Given the description of an element on the screen output the (x, y) to click on. 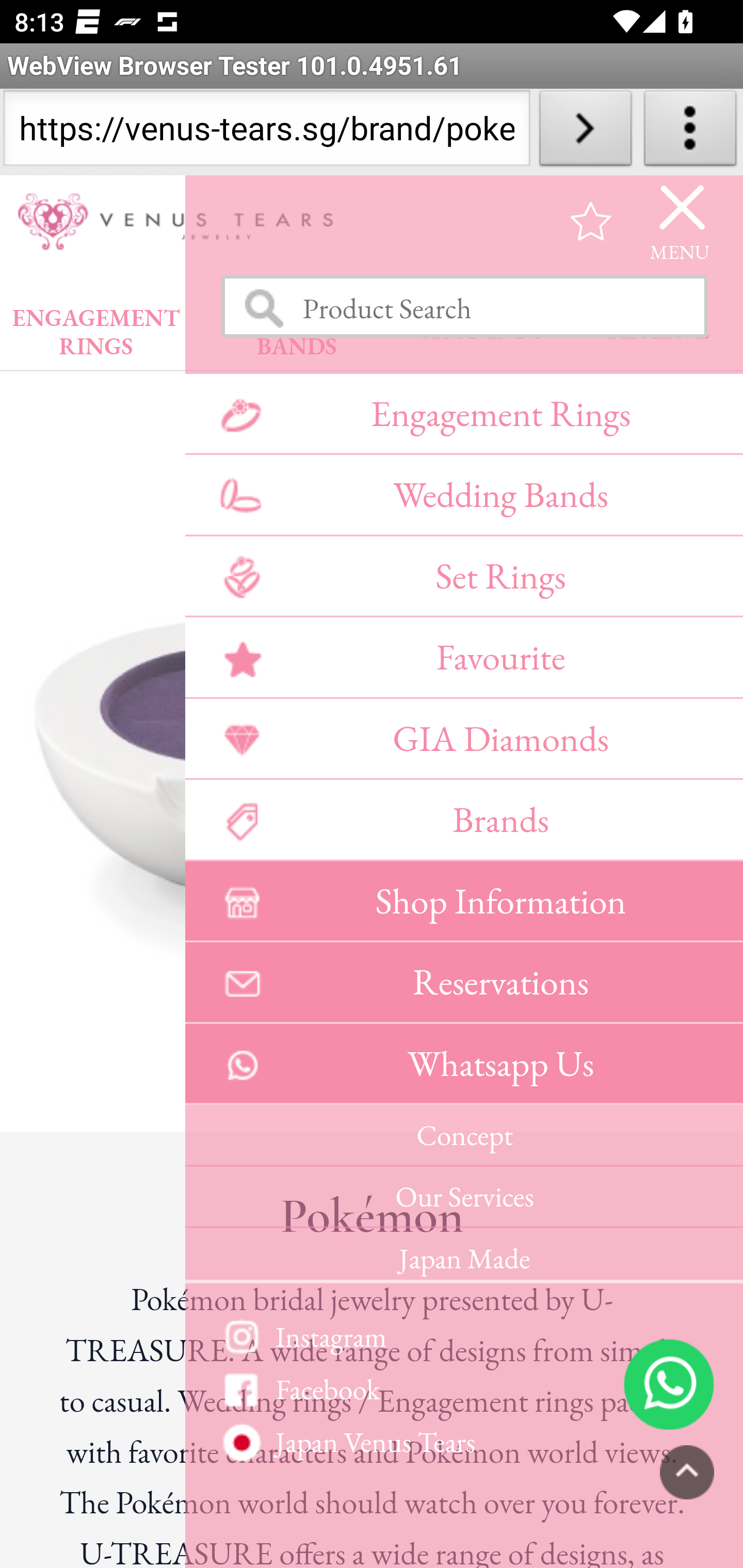
Load URL (585, 132)
About WebView (690, 132)
favourite (591, 220)
MENU (680, 220)
VENUS TEARS (181, 221)
ENGAGEMENT RINGS ENGAGEMENT RINGS (96, 326)
Engagement Rings (463, 412)
Wedding Bands (463, 495)
Set Rings (463, 575)
Favourite (463, 657)
GIA Diamonds (463, 737)
Brands (463, 819)
Shop Information (463, 900)
Reservations (463, 982)
Whatsapp Us (463, 1063)
Concept (463, 1135)
Our Services (463, 1197)
Japan Made (463, 1255)
Instagram (463, 1335)
6585184875 (668, 1383)
Facebook (463, 1389)
Custom Made Ring (463, 1444)
PAGETOP (686, 1472)
